Given the description of an element on the screen output the (x, y) to click on. 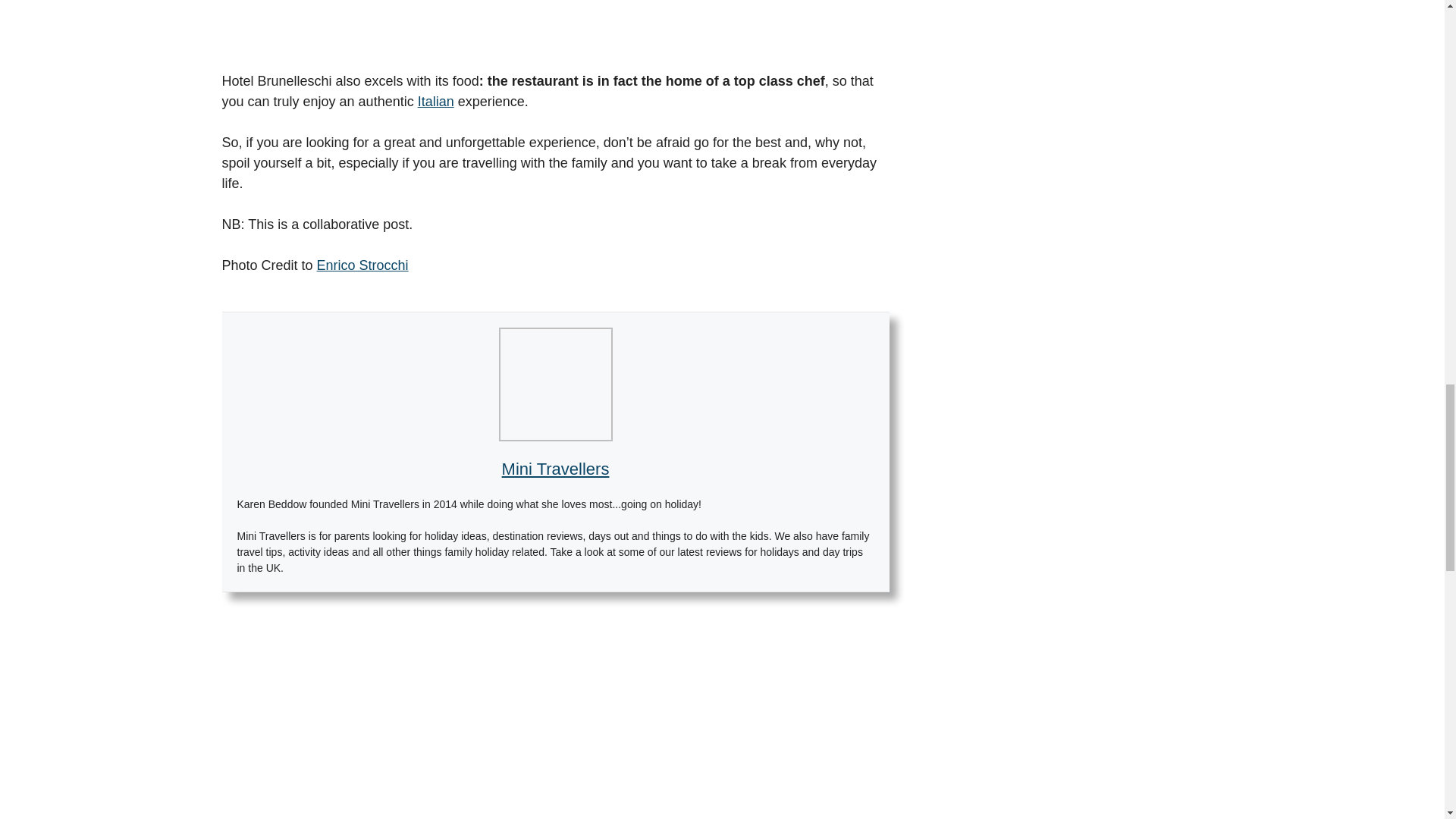
Italian (435, 101)
